Given the description of an element on the screen output the (x, y) to click on. 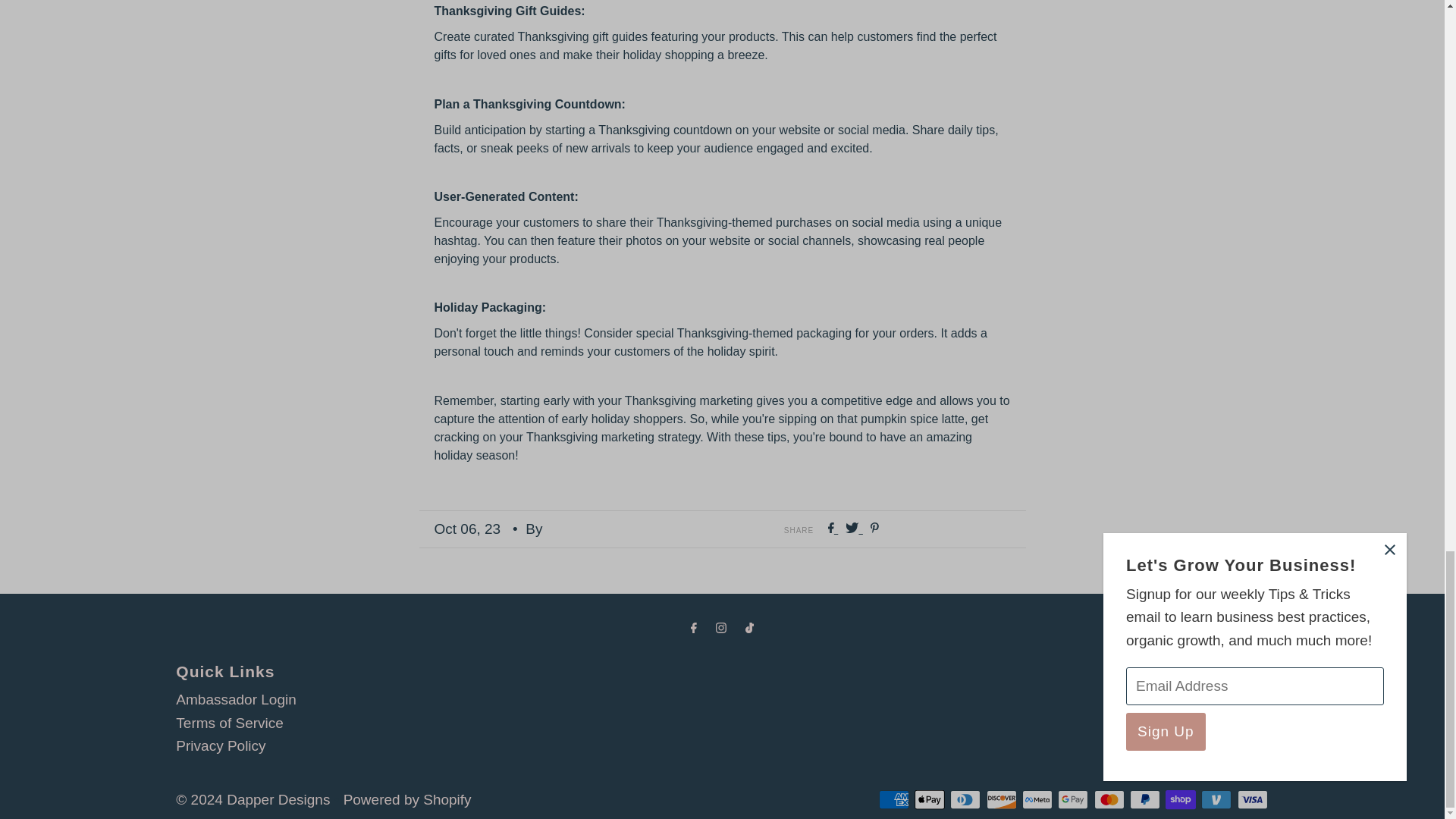
Discover (1001, 799)
Venmo (1216, 799)
Meta Pay (1037, 799)
Shop Pay (1180, 799)
Mastercard (1109, 799)
Apple Pay (929, 799)
Share on Twitter (854, 528)
American Express (893, 799)
PayPal (1144, 799)
Google Pay (1072, 799)
Diners Club (964, 799)
